Given the description of an element on the screen output the (x, y) to click on. 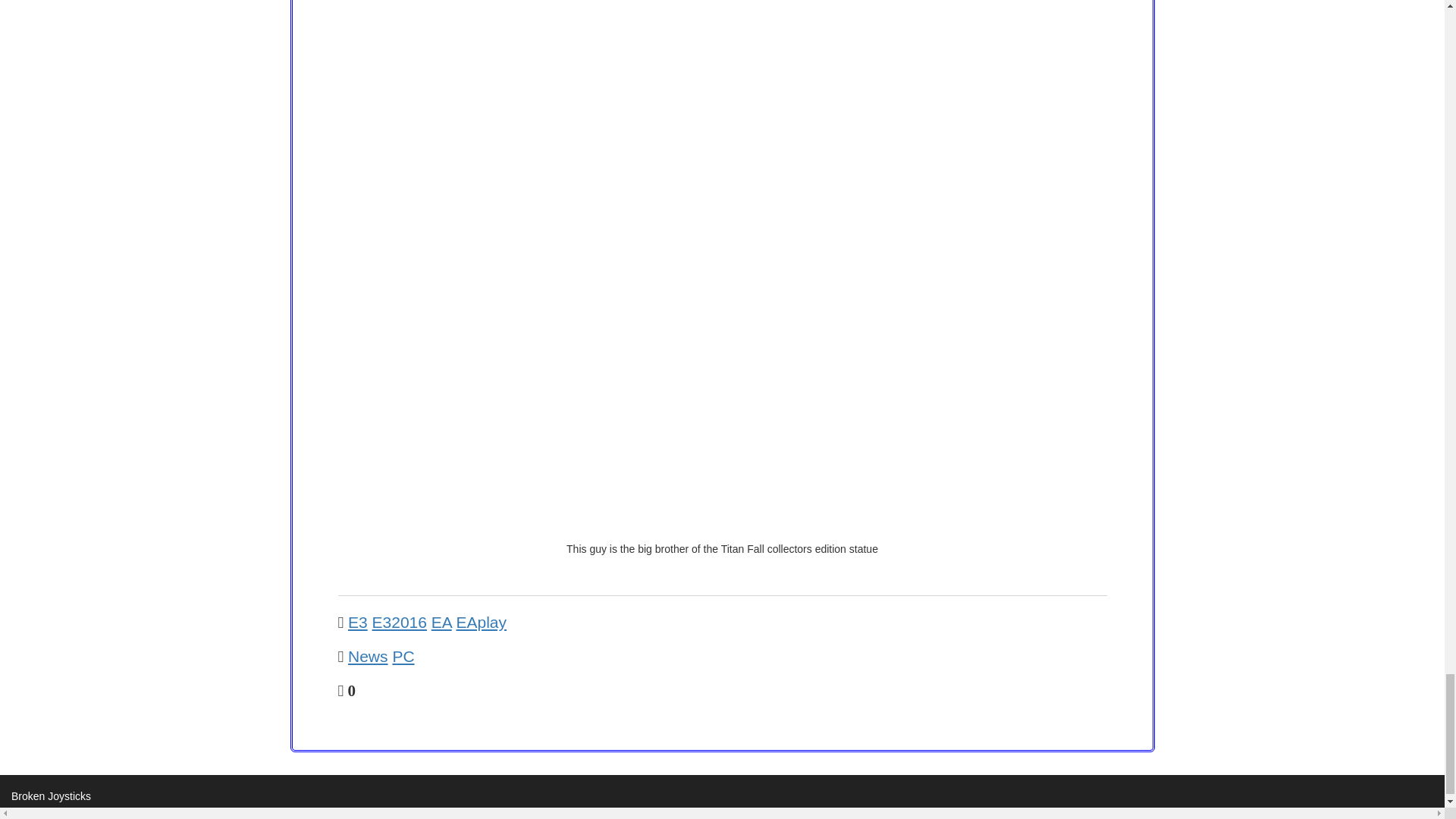
E32016 (399, 621)
PC (402, 656)
E3 (357, 621)
EAplay (481, 621)
News (367, 656)
EA (440, 621)
